Given the description of an element on the screen output the (x, y) to click on. 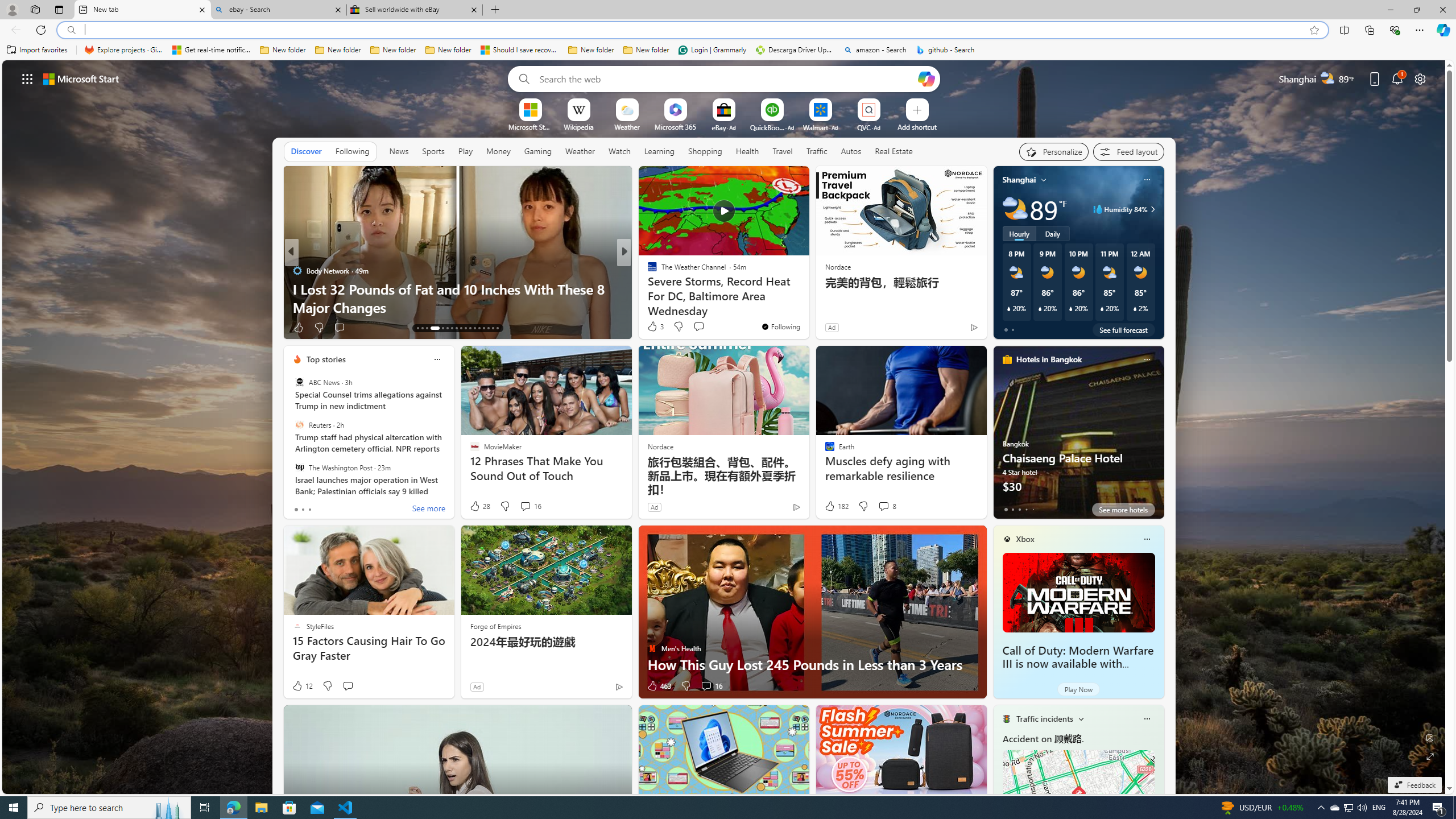
AutomationID: tab-23 (470, 328)
NBC News (647, 270)
Verywell Mind (647, 288)
Start the conversation (347, 685)
github - Search (945, 49)
Feedback (1414, 784)
View comments 167 Comment (703, 327)
AutomationID: tab-25 (478, 328)
Ad (476, 686)
See more (795, 179)
353 Like (654, 327)
AutomationID: tab-27 (488, 328)
